Given the description of an element on the screen output the (x, y) to click on. 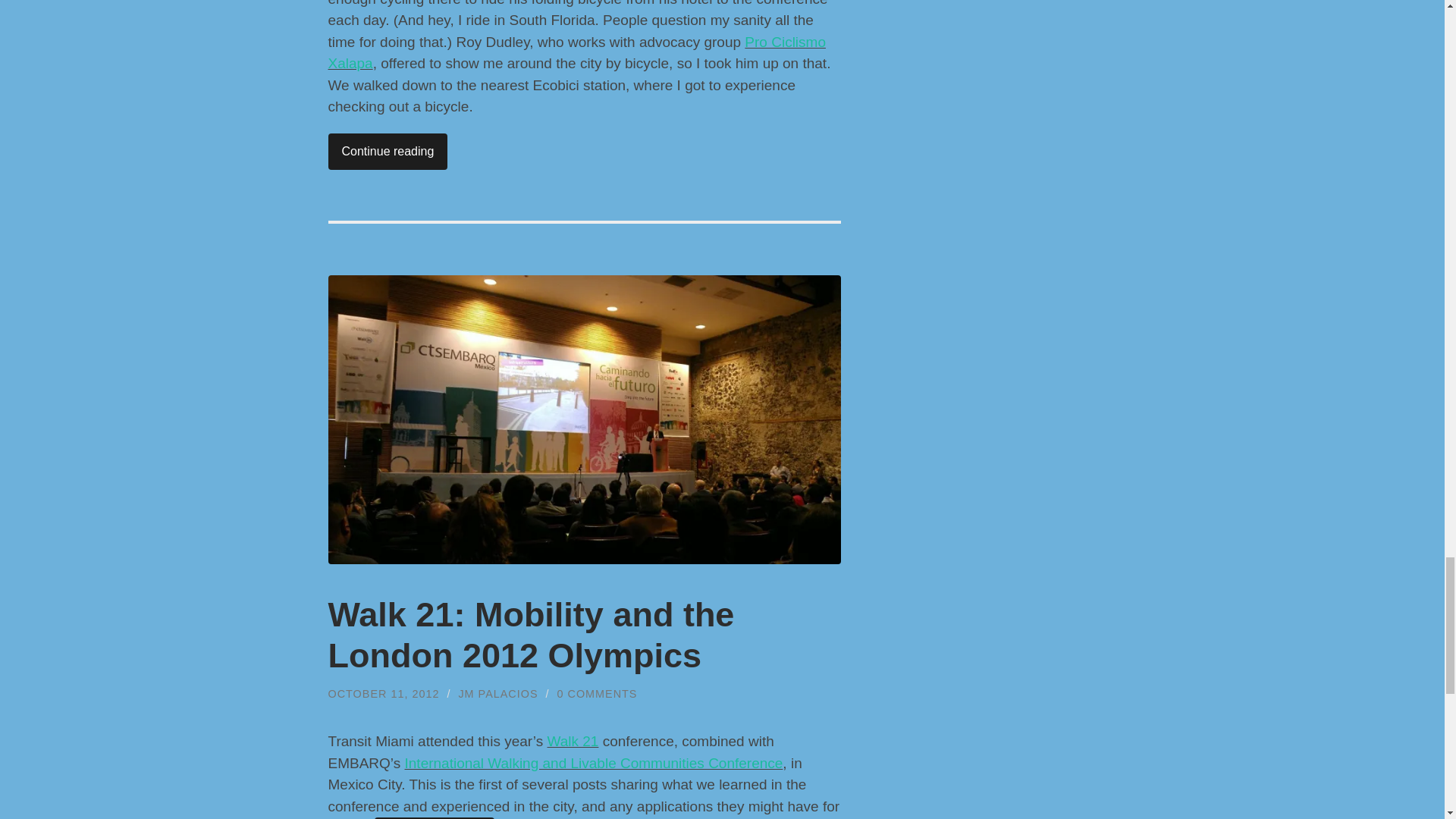
JM PALACIOS (497, 693)
Walk 21: Mobility and the London 2012 Olympics (530, 634)
Pro Ciclismo Xalapa (576, 53)
OCTOBER 11, 2012 (383, 693)
Posts by JM Palacios (497, 693)
Walk 21 (572, 741)
Continue reading (386, 151)
International Walking and Livable Communities Conference (593, 763)
0 COMMENTS (597, 693)
Continue reading (434, 818)
